Given the description of an element on the screen output the (x, y) to click on. 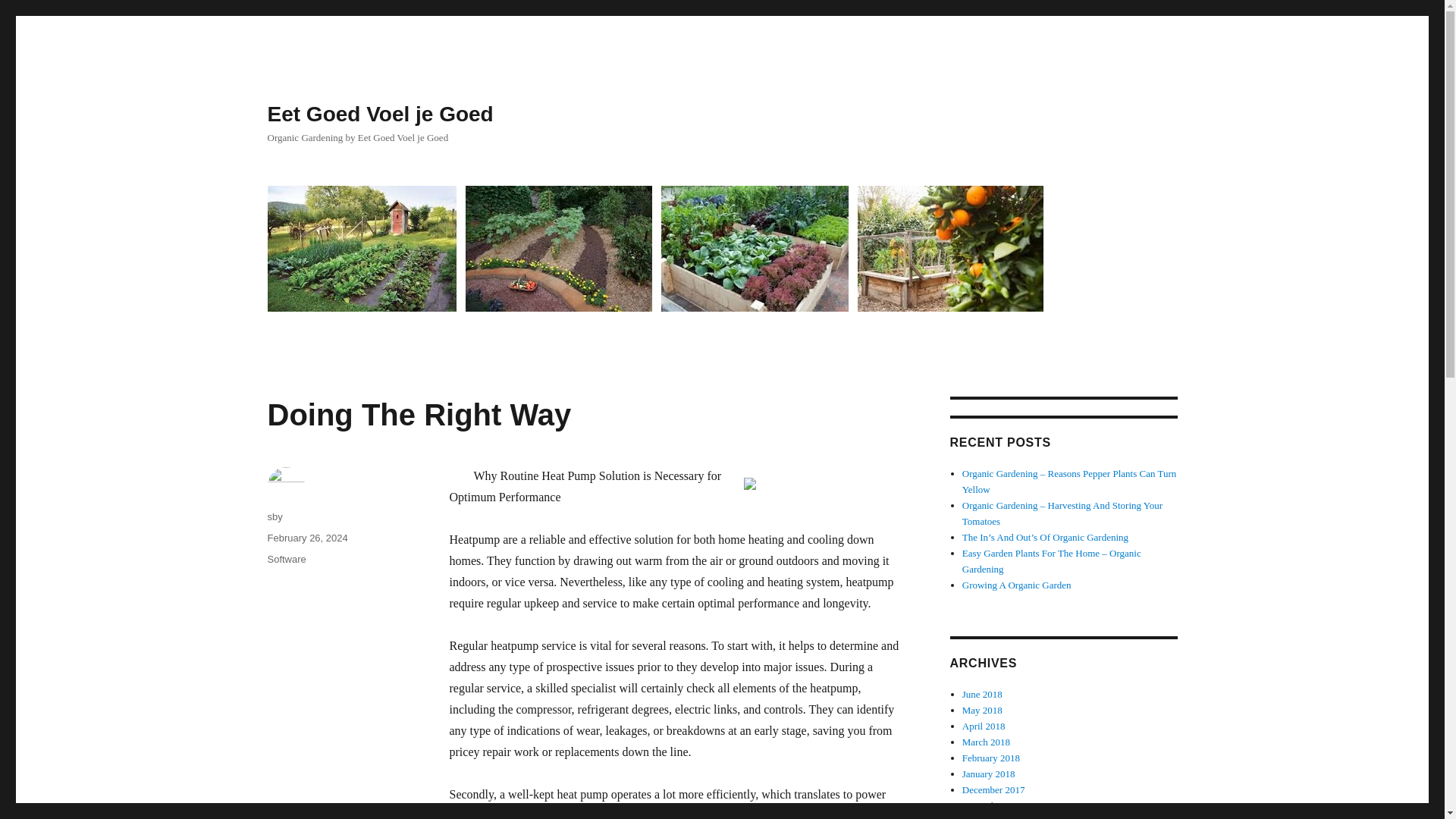
Eet Goed Voel je Goed (379, 114)
November 2017 (994, 805)
May 2018 (982, 709)
February 26, 2024 (306, 537)
March 2018 (986, 741)
October 2017 (989, 817)
Growing A Organic Garden (1016, 584)
February 2018 (991, 757)
January 2018 (988, 773)
December 2017 (993, 789)
Software (285, 559)
June 2018 (982, 694)
April 2018 (984, 726)
sby (274, 516)
